Given the description of an element on the screen output the (x, y) to click on. 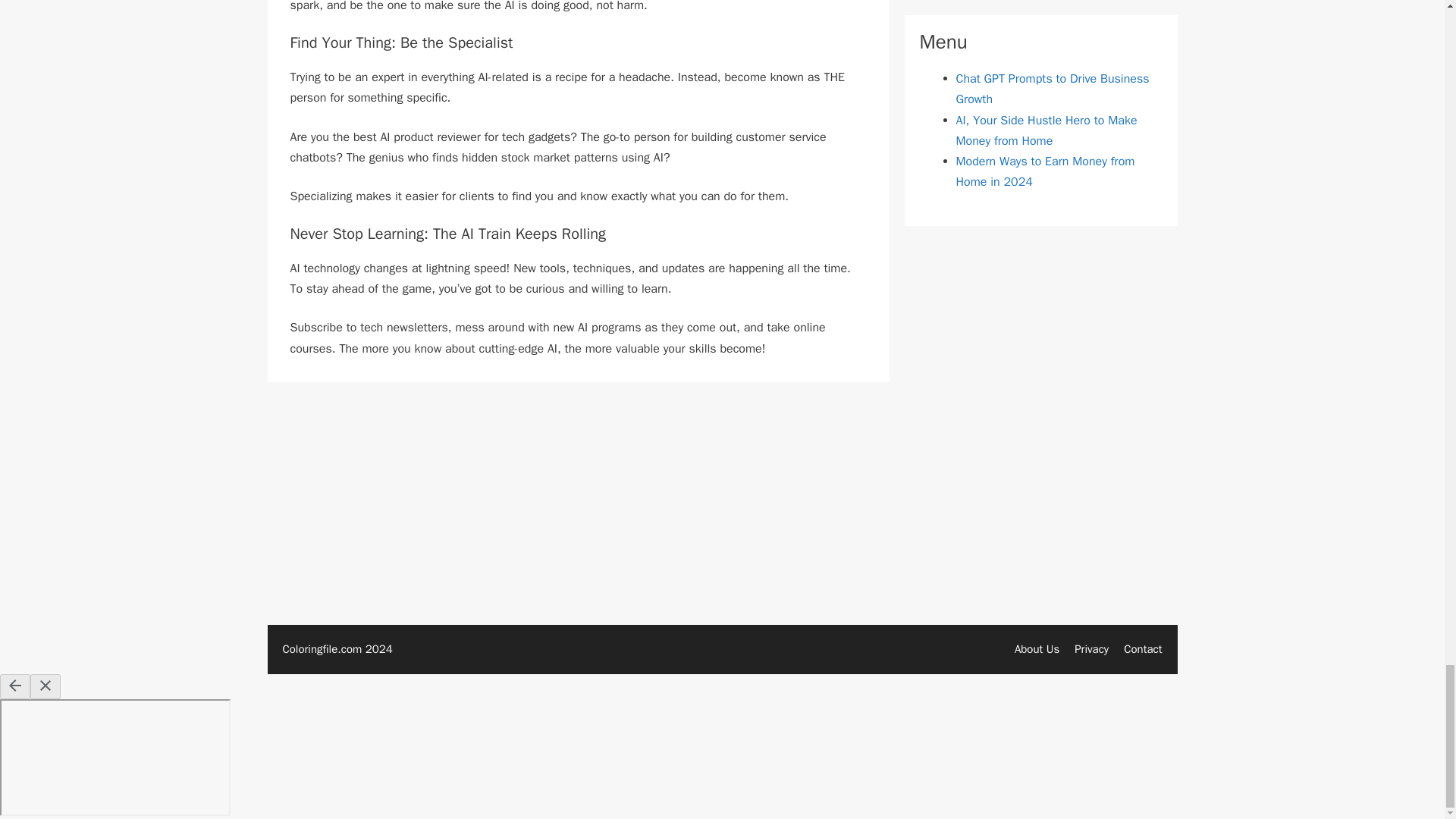
About Us (1036, 649)
Contact (1142, 649)
Privacy (1091, 649)
